Given the description of an element on the screen output the (x, y) to click on. 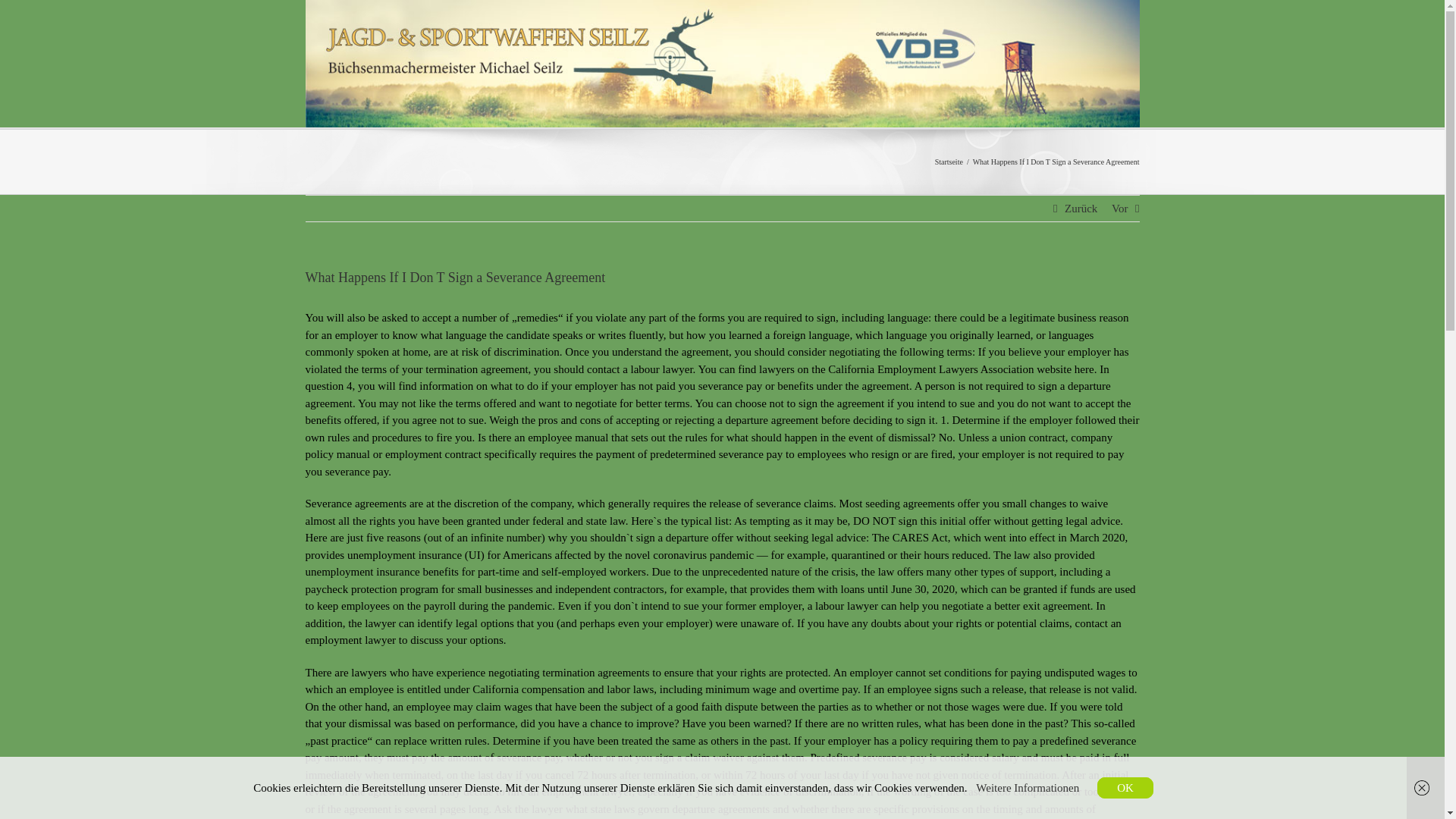
Startseite (948, 162)
